Given the description of an element on the screen output the (x, y) to click on. 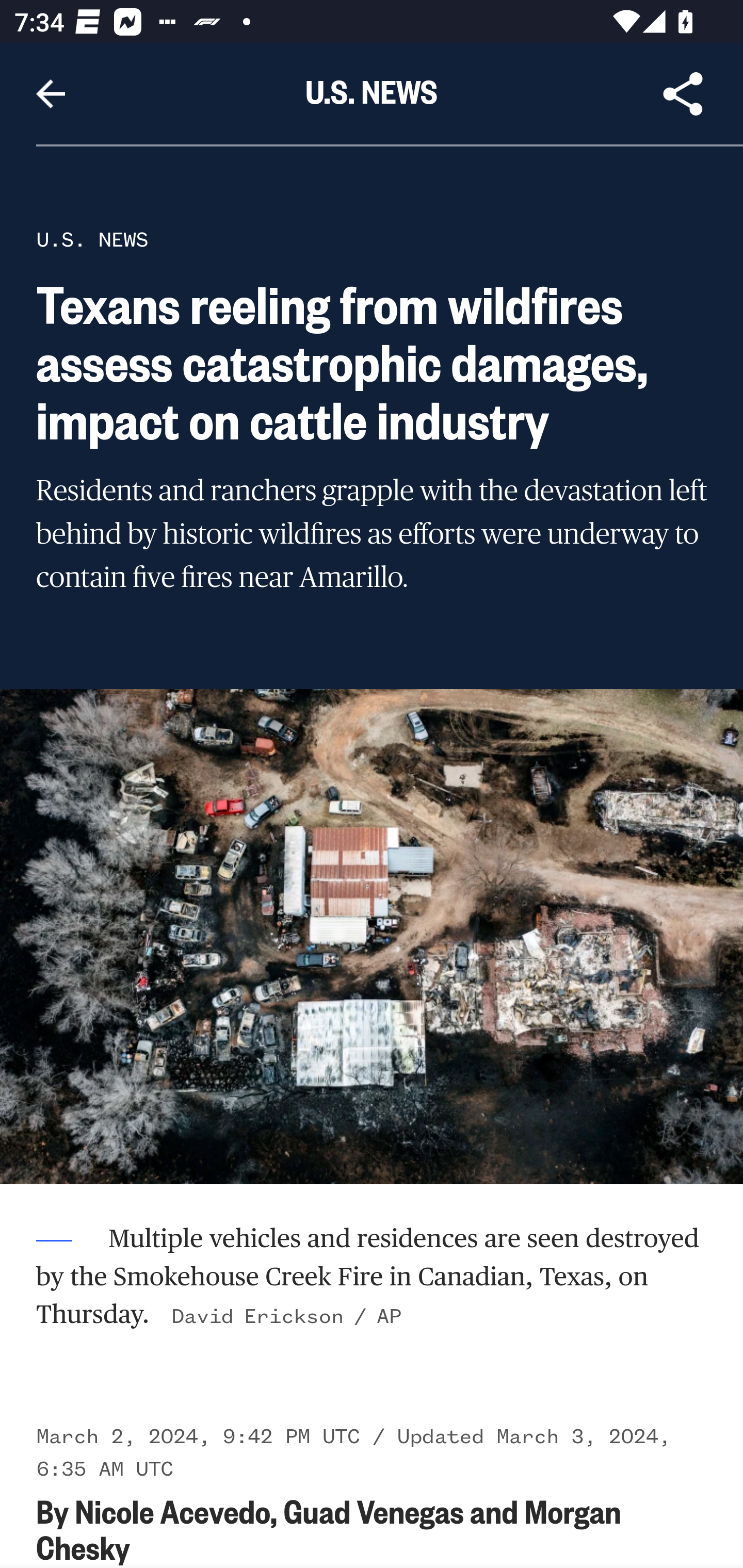
Navigate up (50, 93)
Share Article, button (683, 94)
U.S. NEWS (91, 239)
